Given the description of an element on the screen output the (x, y) to click on. 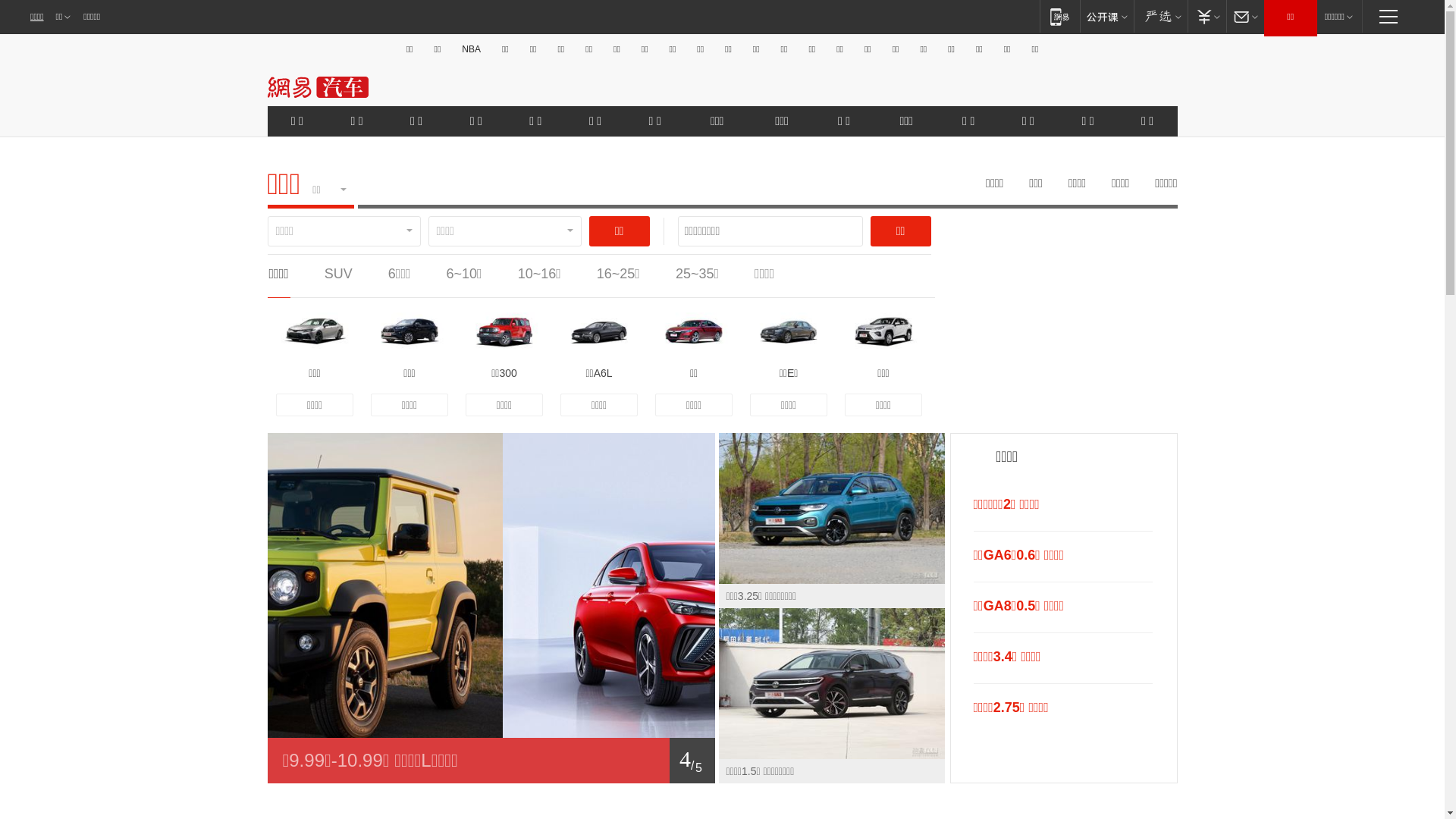
SUV Element type: text (338, 273)
1/ 5 Element type: text (490, 760)
NBA Element type: text (471, 48)
